Given the description of an element on the screen output the (x, y) to click on. 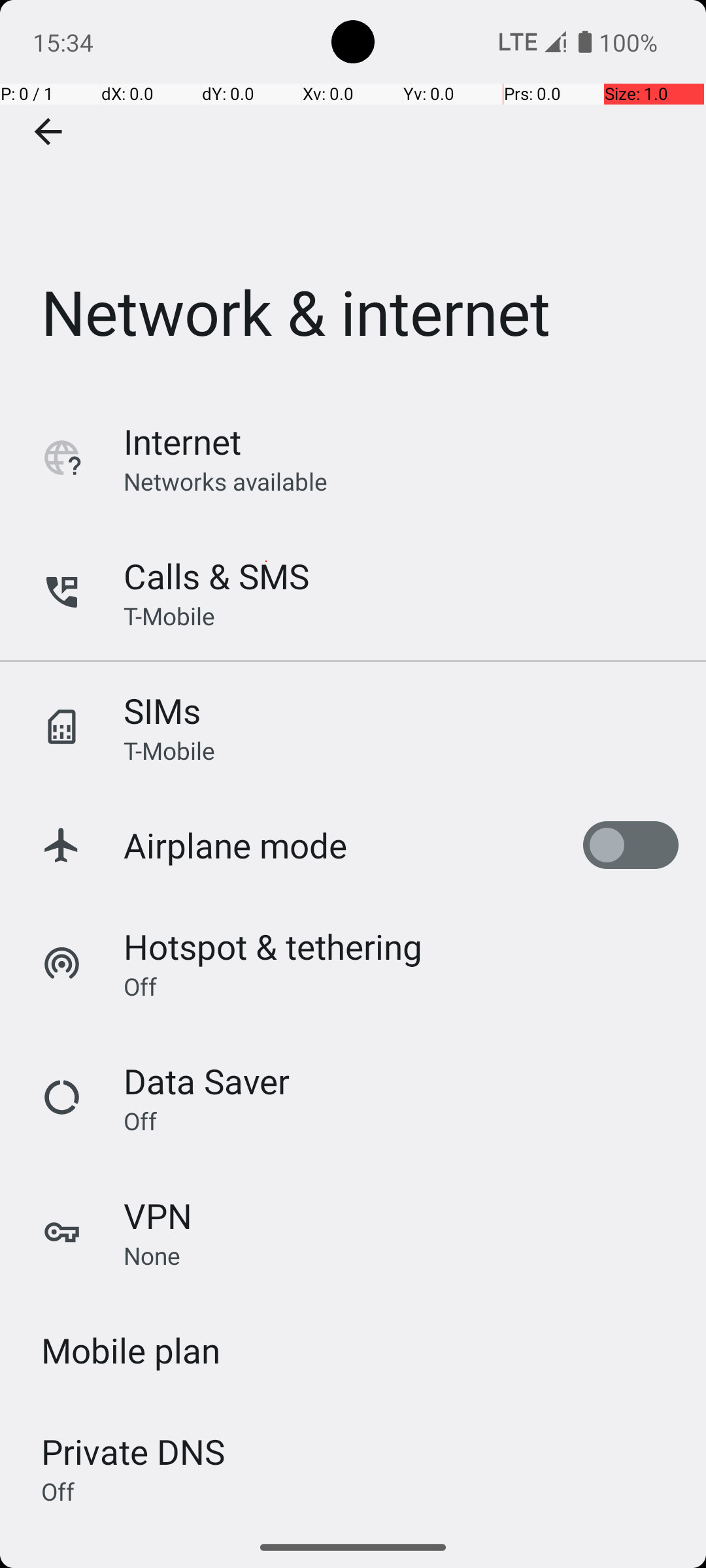
Networks available Element type: android.widget.TextView (225, 480)
SIMs Element type: android.widget.TextView (161, 710)
Airplane mode Element type: android.widget.TextView (235, 844)
VPN Element type: android.widget.TextView (157, 1215)
Mobile plan Element type: android.widget.TextView (130, 1349)
Private DNS Element type: android.widget.TextView (132, 1451)
